Given the description of an element on the screen output the (x, y) to click on. 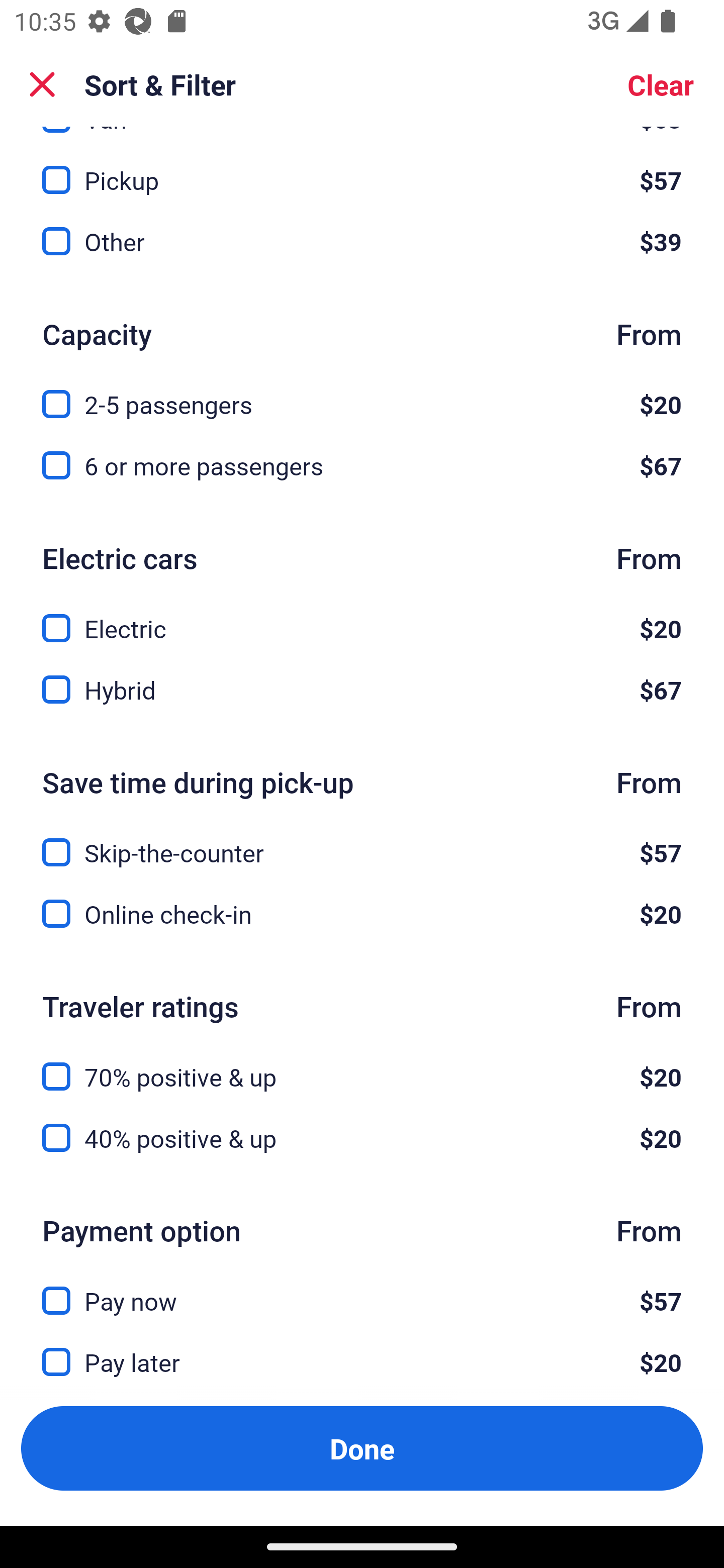
Close Sort and Filter (42, 84)
Clear (660, 84)
Pickup, $57 Pickup $57 (361, 168)
Other, $39 Other $39 (361, 241)
2-5 passengers, $20 2-5 passengers $20 (361, 392)
6 or more passengers, $67 6 or more passengers $67 (361, 465)
Electric, $20 Electric $20 (361, 616)
Hybrid, $67 Hybrid $67 (361, 689)
Skip-the-counter, $57 Skip-the-counter $57 (361, 840)
Online check-in, $20 Online check-in $20 (361, 913)
70% positive & up, $20 70% positive & up $20 (361, 1065)
40% positive & up, $20 40% positive & up $20 (361, 1138)
Pay now, $57 Pay now $57 (361, 1289)
Pay later, $20 Pay later $20 (361, 1362)
Apply and close Sort and Filter Done (361, 1448)
